Given the description of an element on the screen output the (x, y) to click on. 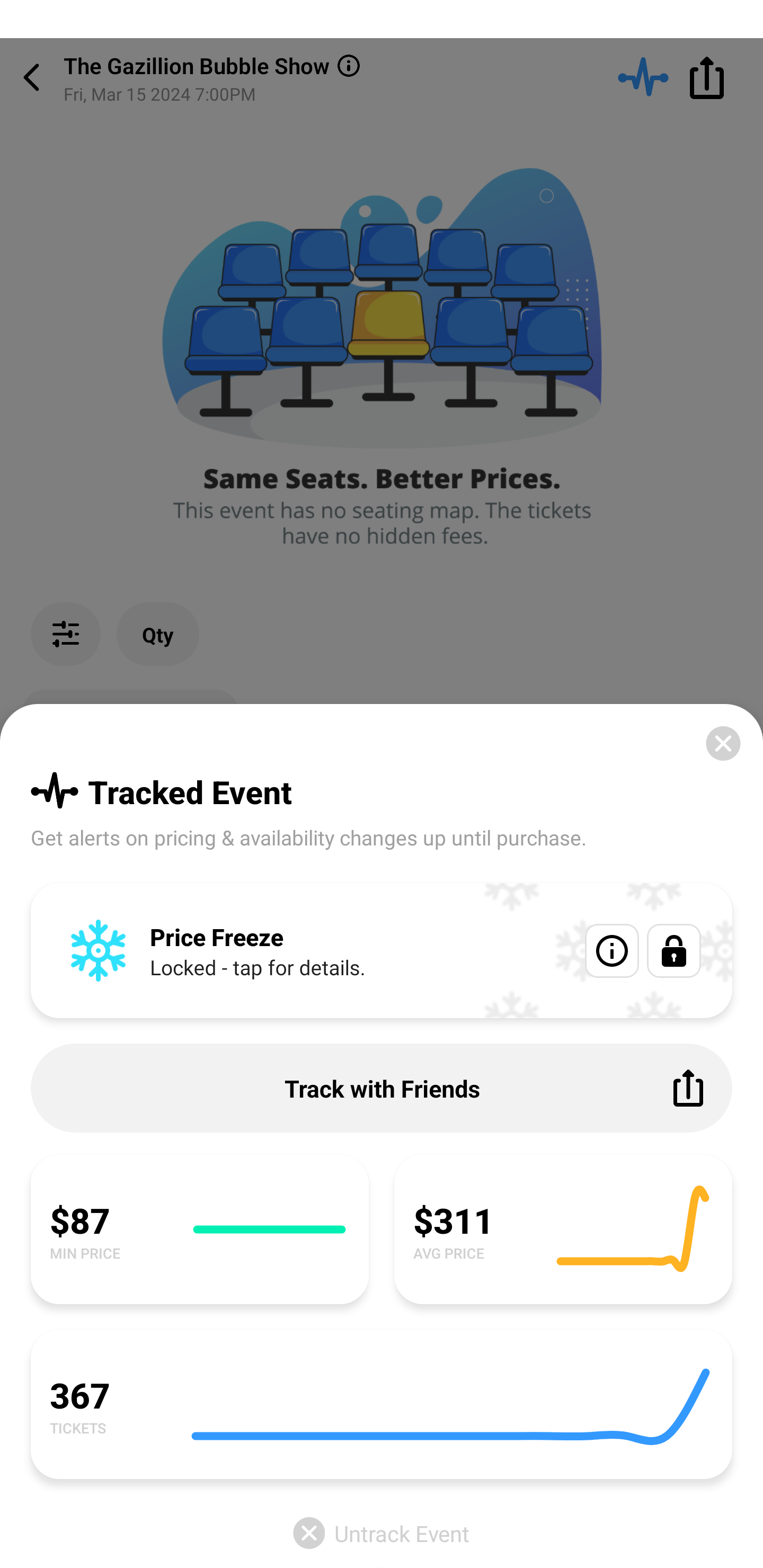
Track with Friends (381, 1088)
Untrack Event (381, 1533)
